Given the description of an element on the screen output the (x, y) to click on. 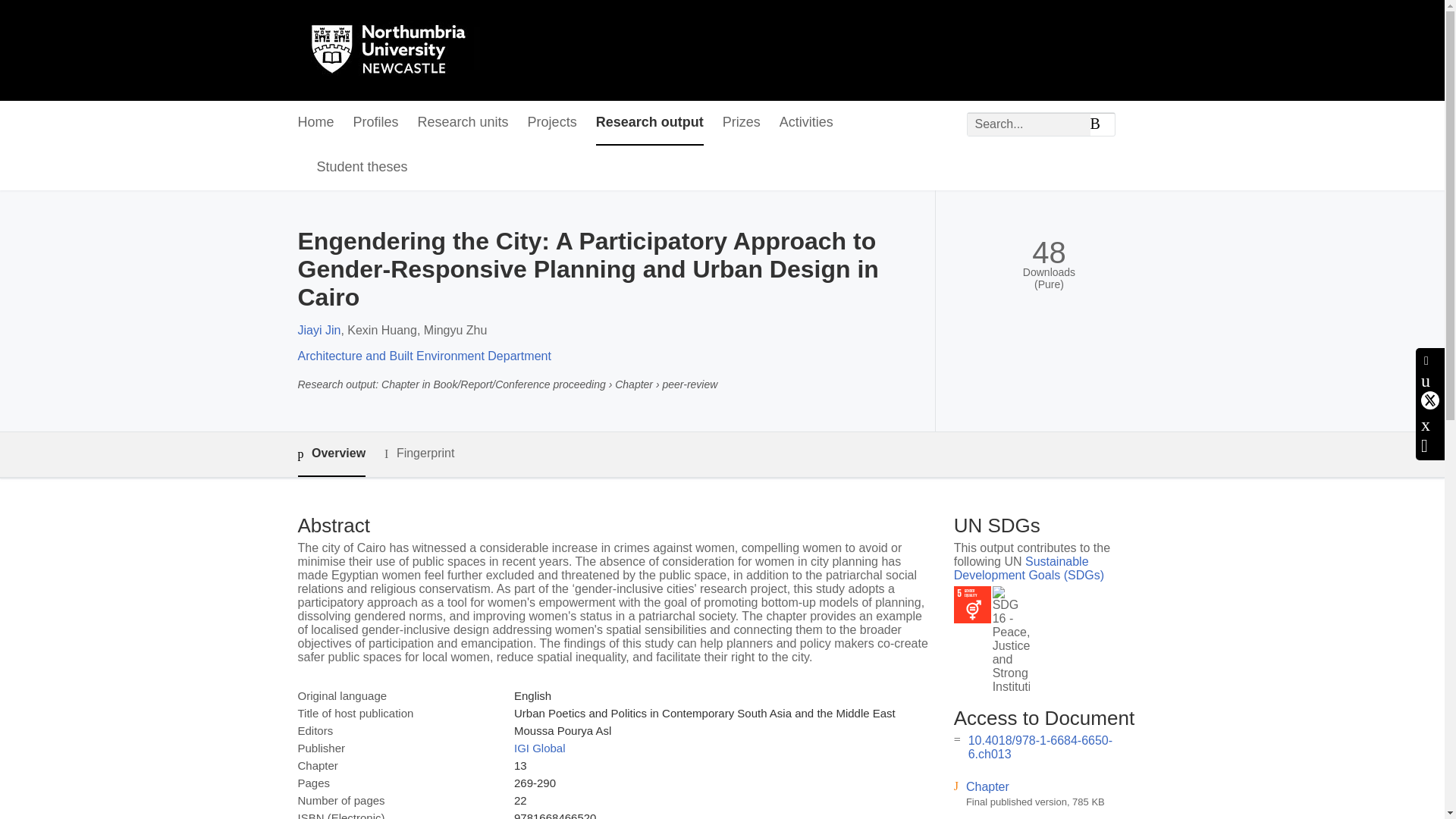
Fingerprint (419, 453)
Research units (462, 122)
Northumbria University Research Portal Home (398, 50)
Student theses (362, 167)
Projects (551, 122)
Activities (805, 122)
Research output (649, 122)
SDG 5 - Gender Equality (972, 604)
Chapter (987, 786)
IGI Global (539, 748)
Architecture and Built Environment Department (423, 355)
Overview (331, 454)
Profiles (375, 122)
Jiayi Jin (318, 329)
